Given the description of an element on the screen output the (x, y) to click on. 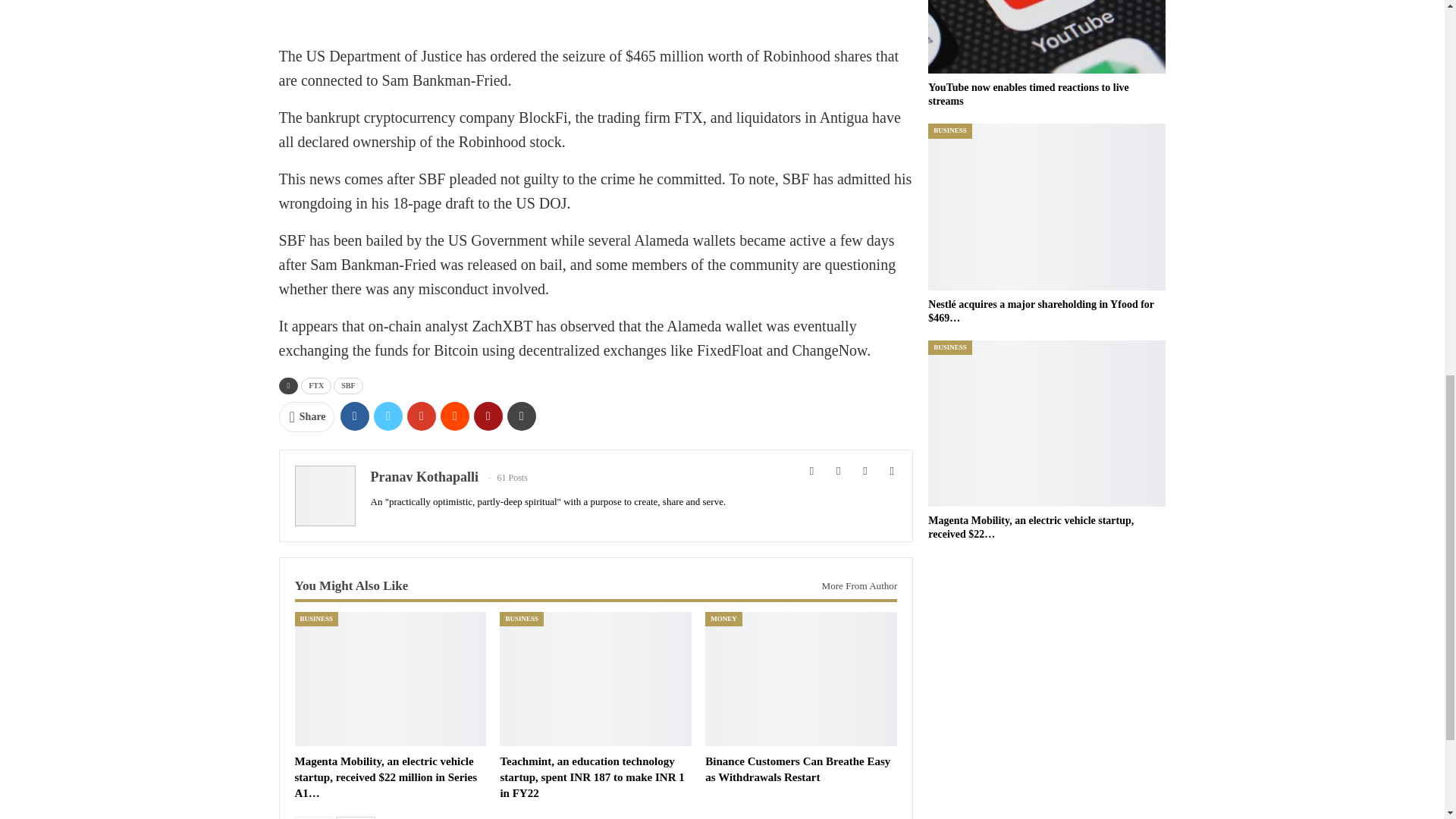
Binance Customers Can Breathe Easy as Withdrawals Restart (796, 768)
Binance Customers Can Breathe Easy as Withdrawals Restart (800, 678)
Previous (313, 817)
Advertisement (596, 17)
